Given the description of an element on the screen output the (x, y) to click on. 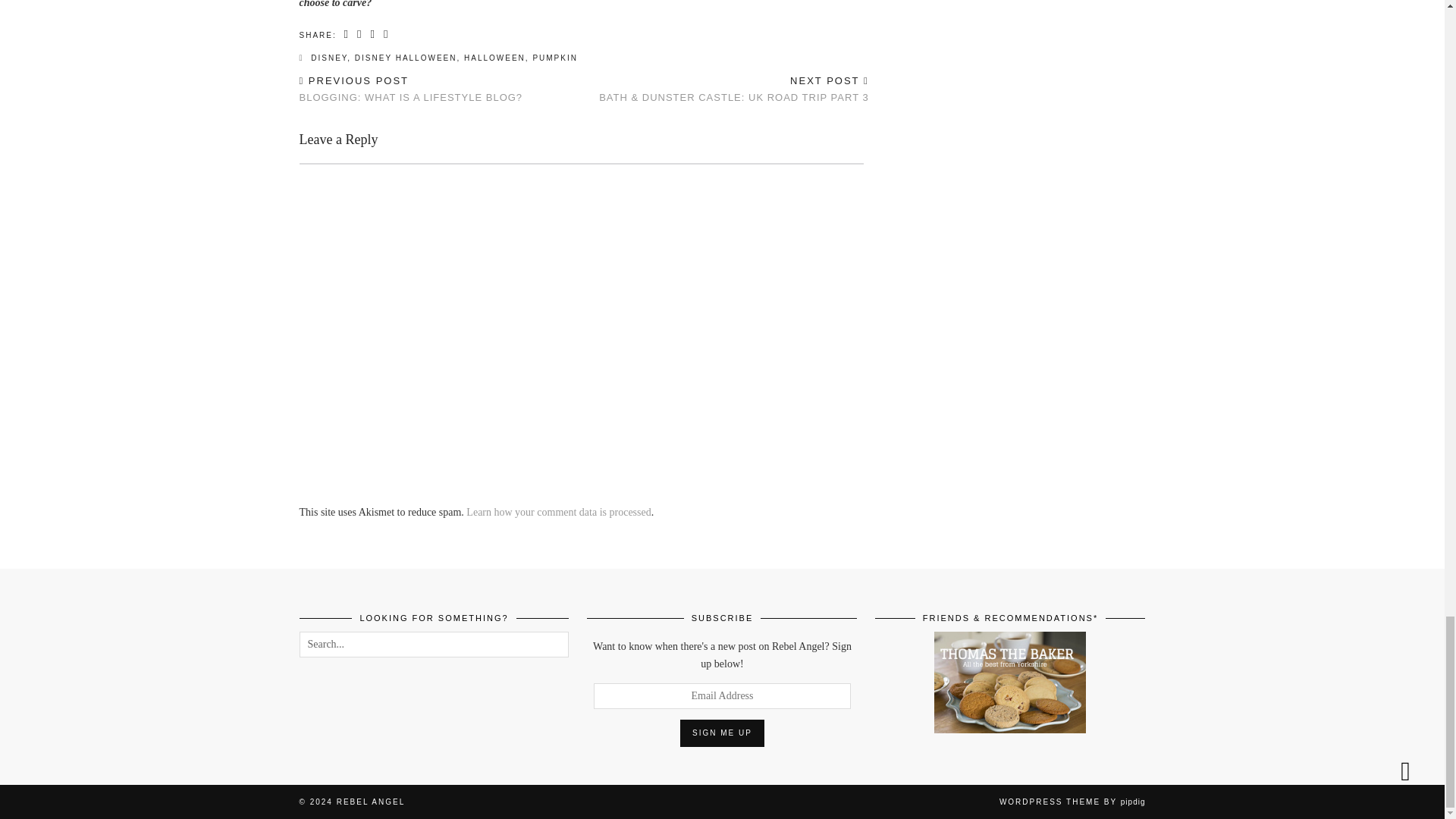
Share on Facebook (346, 33)
Share on tumblr (386, 33)
Share on Pinterest (372, 33)
Share on Twitter (359, 33)
